Given the description of an element on the screen output the (x, y) to click on. 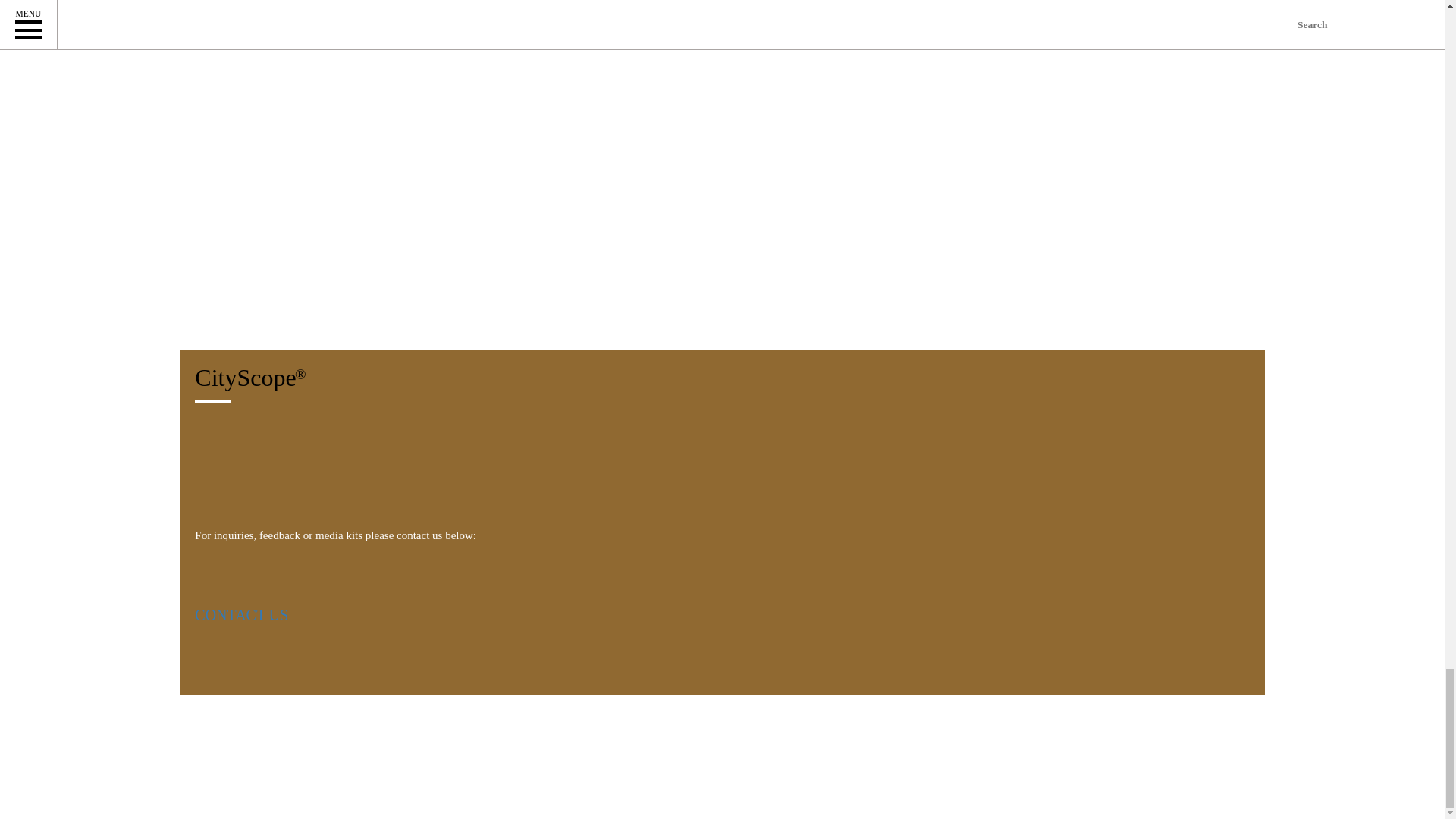
CONTACT US (241, 615)
twitter (238, 687)
instagram (276, 687)
